Given the description of an element on the screen output the (x, y) to click on. 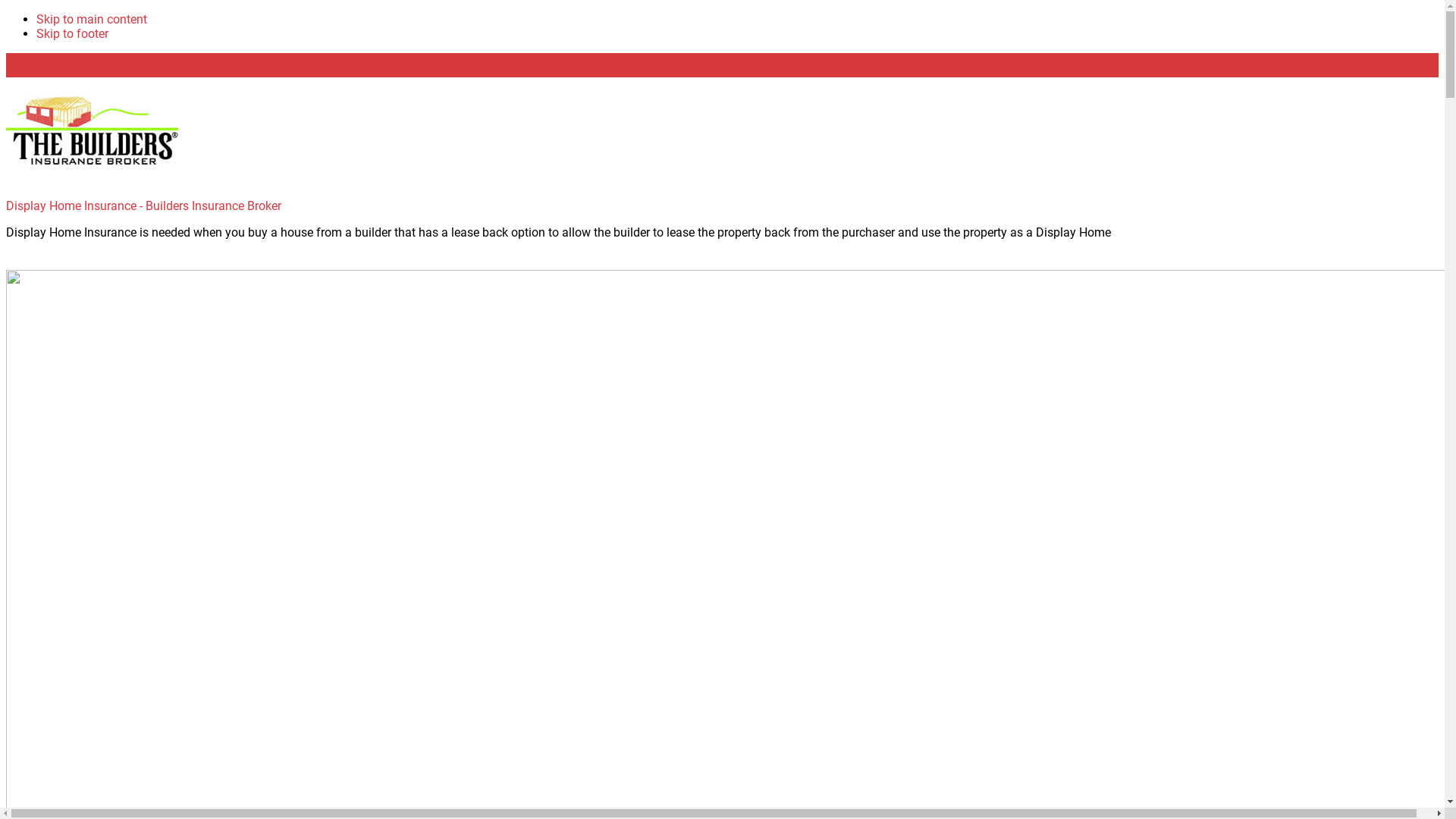
Display Home Insurance - Builders Insurance Broker Element type: text (143, 205)
Skip to footer Element type: text (72, 33)
07 5449 9115 Element type: text (1389, 98)
Skip to main content Element type: text (91, 19)
1300 769 455 Element type: text (1118, 98)
